Given the description of an element on the screen output the (x, y) to click on. 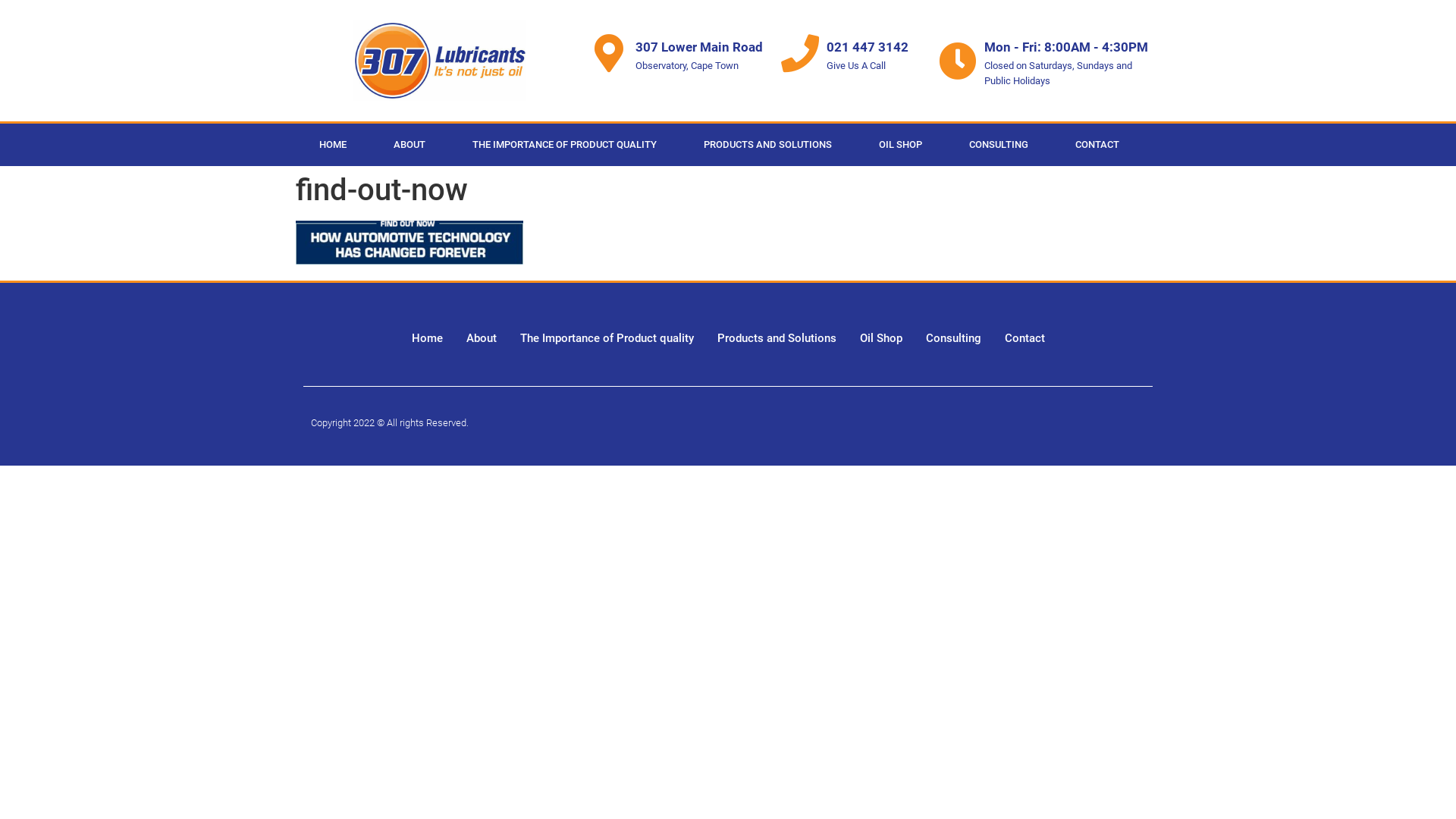
CONTACT Element type: text (1096, 144)
Oil Shop Element type: text (880, 337)
OIL SHOP Element type: text (900, 144)
The Importance of Product quality Element type: text (606, 337)
Products and Solutions Element type: text (776, 337)
About Element type: text (480, 337)
ABOUT Element type: text (409, 144)
THE IMPORTANCE OF PRODUCT QUALITY Element type: text (564, 144)
Contact Element type: text (1024, 337)
CONSULTING Element type: text (998, 144)
Consulting Element type: text (952, 337)
HOME Element type: text (332, 144)
Home Element type: text (426, 337)
PRODUCTS AND SOLUTIONS Element type: text (767, 144)
